Given the description of an element on the screen output the (x, y) to click on. 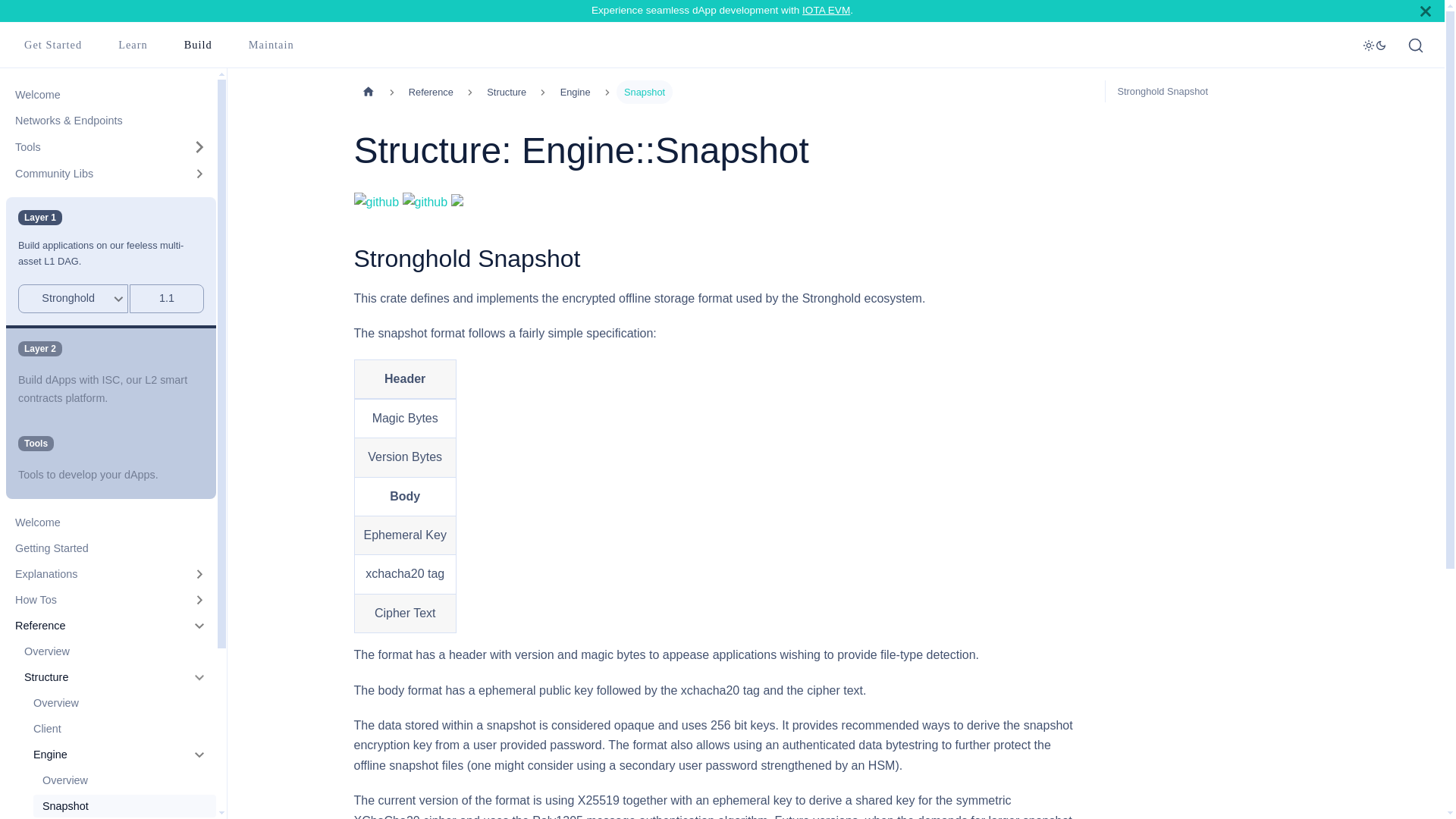
How Tos (110, 599)
Client (119, 728)
Overview (124, 780)
Maintain (110, 461)
IOTA EVM (271, 45)
Overview (826, 9)
Explanations (119, 702)
Snapshot (110, 573)
Community Libs (124, 805)
Tools (110, 173)
Build (94, 146)
Learn (197, 45)
Engine (132, 45)
